Given the description of an element on the screen output the (x, y) to click on. 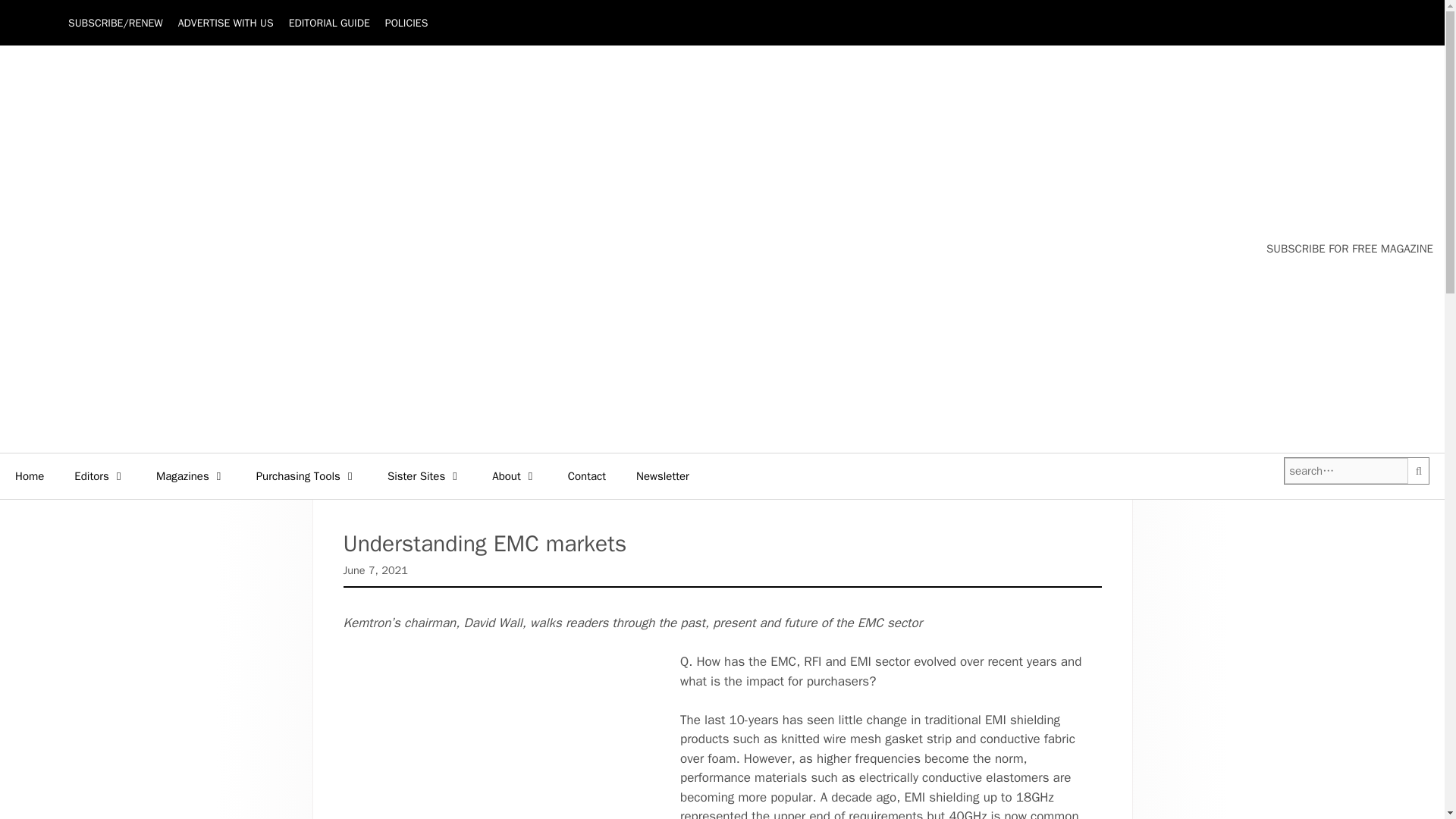
Editors (100, 475)
Search for: (1345, 470)
SUBSCRIBE FOR FREE MAGAZINE (1349, 248)
Newsletter (662, 475)
Magazines (191, 475)
POLICIES (406, 22)
Purchasing Tools (306, 475)
About (514, 475)
EDITORIAL GUIDE (328, 22)
ADVERTISE WITH US (225, 22)
Sister Sites (424, 475)
Contact (587, 475)
Home (29, 475)
